Given the description of an element on the screen output the (x, y) to click on. 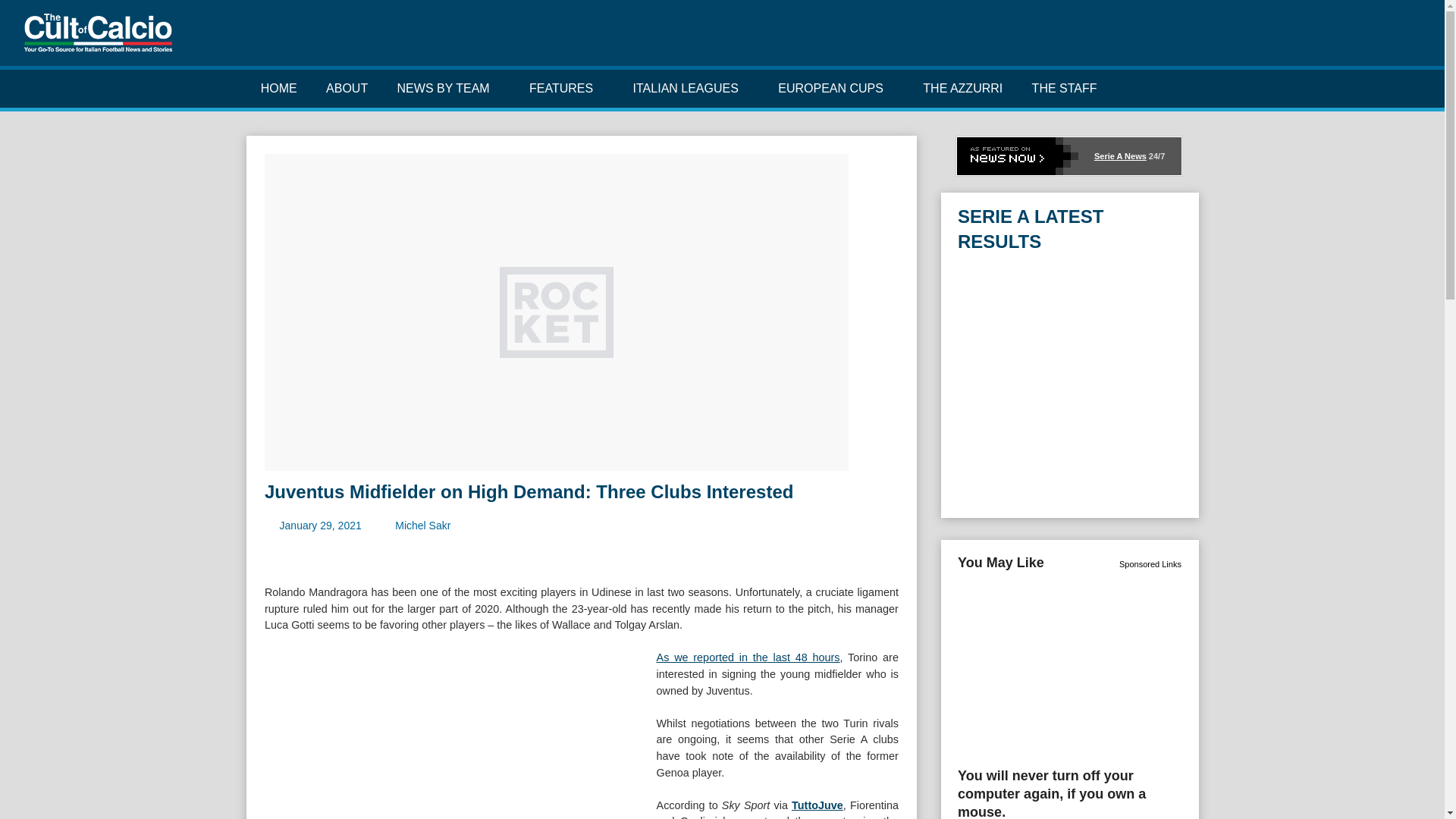
ITALIAN LEAGUES (689, 88)
Instagram (1363, 39)
FEATURES (566, 88)
EUROPEAN CUPS (835, 88)
HOME (278, 88)
RSS Feed (1409, 39)
View all posts by Michel Sakr (421, 525)
Twitter (1339, 39)
NEWS BY TEAM (447, 88)
ABOUT (346, 88)
YouTube (1386, 39)
7:00 pm (320, 525)
Facebook (1315, 39)
